Given the description of an element on the screen output the (x, y) to click on. 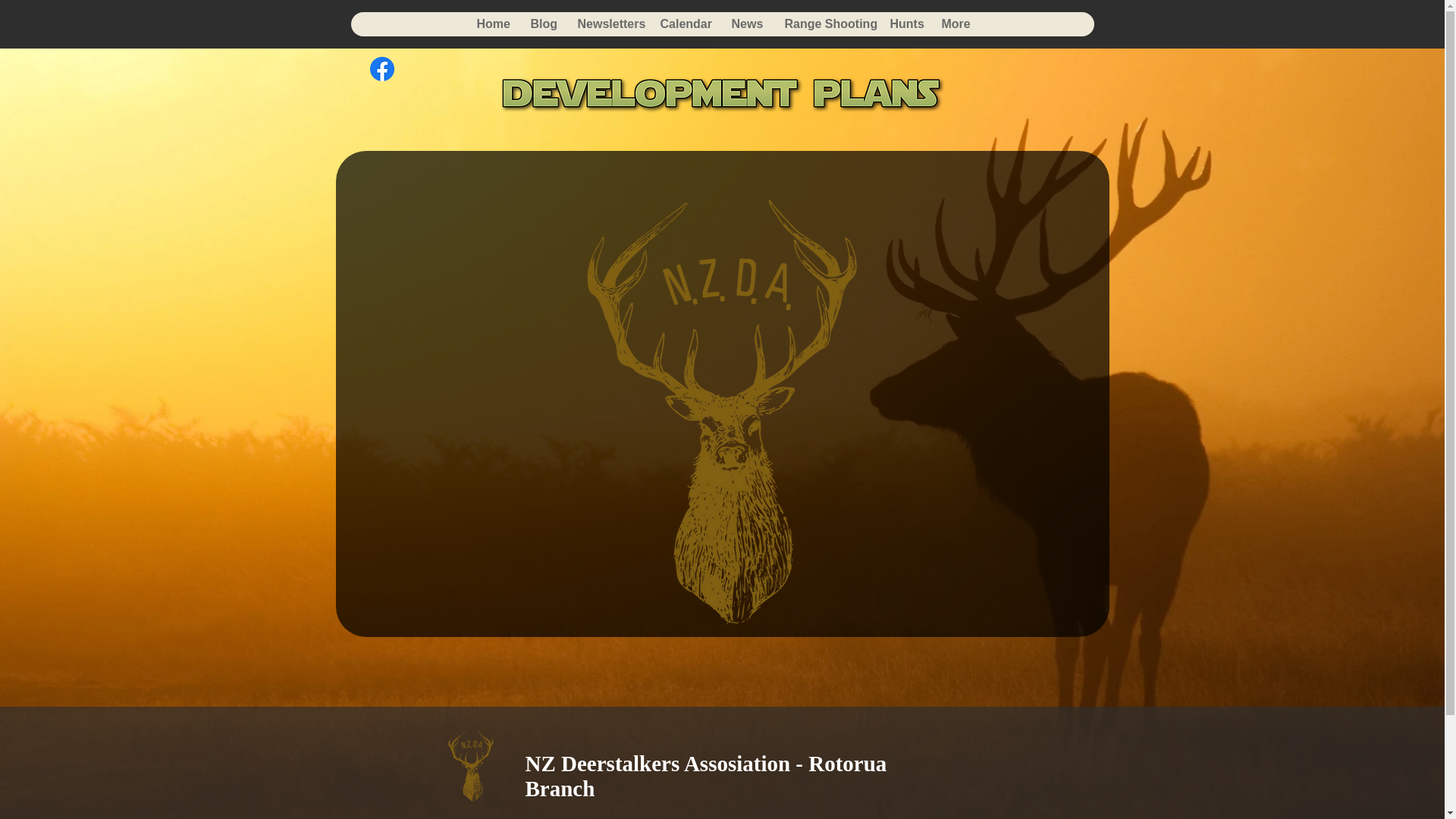
Take me to NZDA (470, 765)
Calendar (683, 24)
Home (491, 24)
Newsletters (606, 24)
Blog (542, 24)
devplans.png (722, 94)
Hunts (903, 24)
News (745, 24)
